Given the description of an element on the screen output the (x, y) to click on. 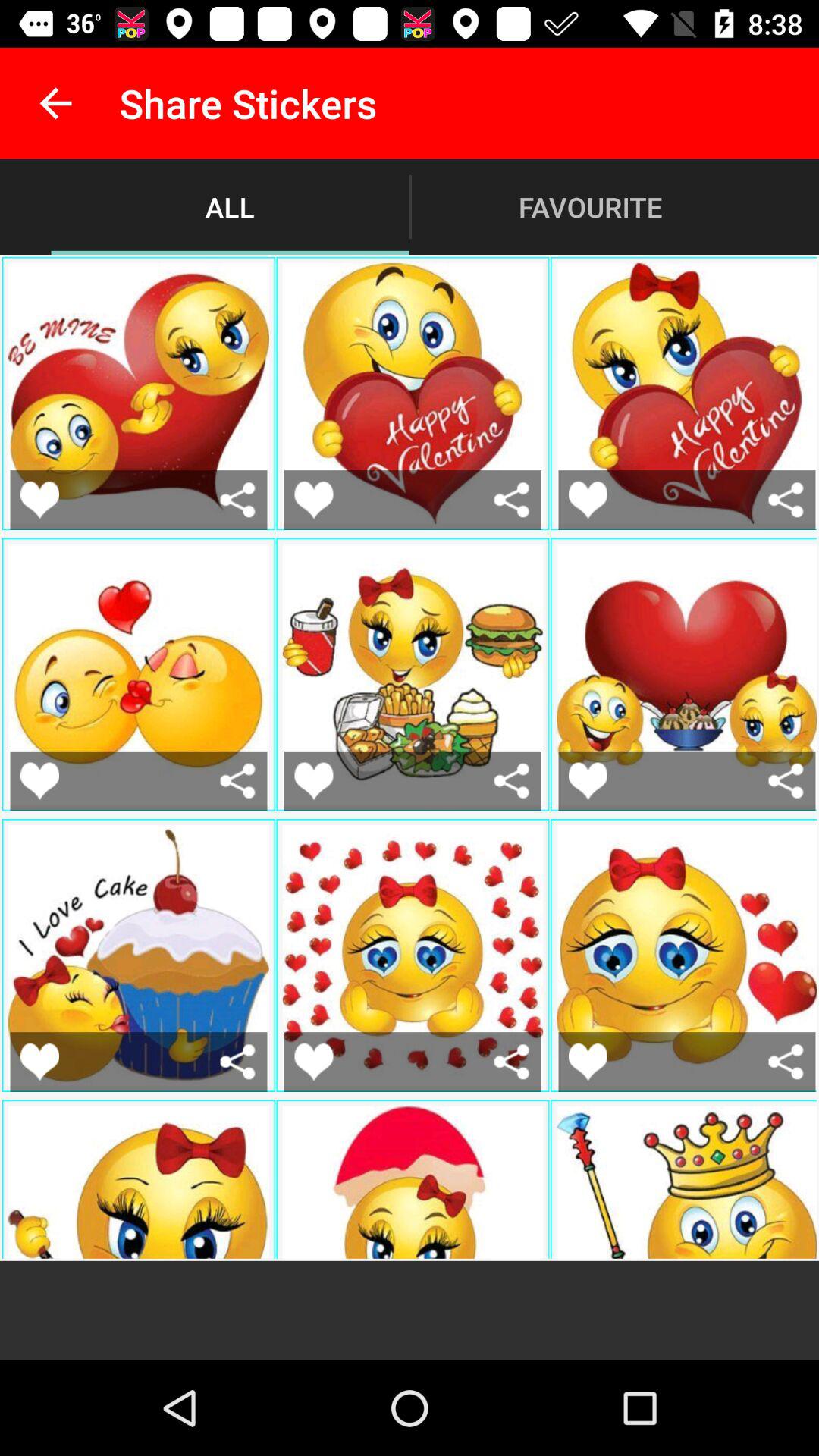
add to favorite (237, 499)
